Given the description of an element on the screen output the (x, y) to click on. 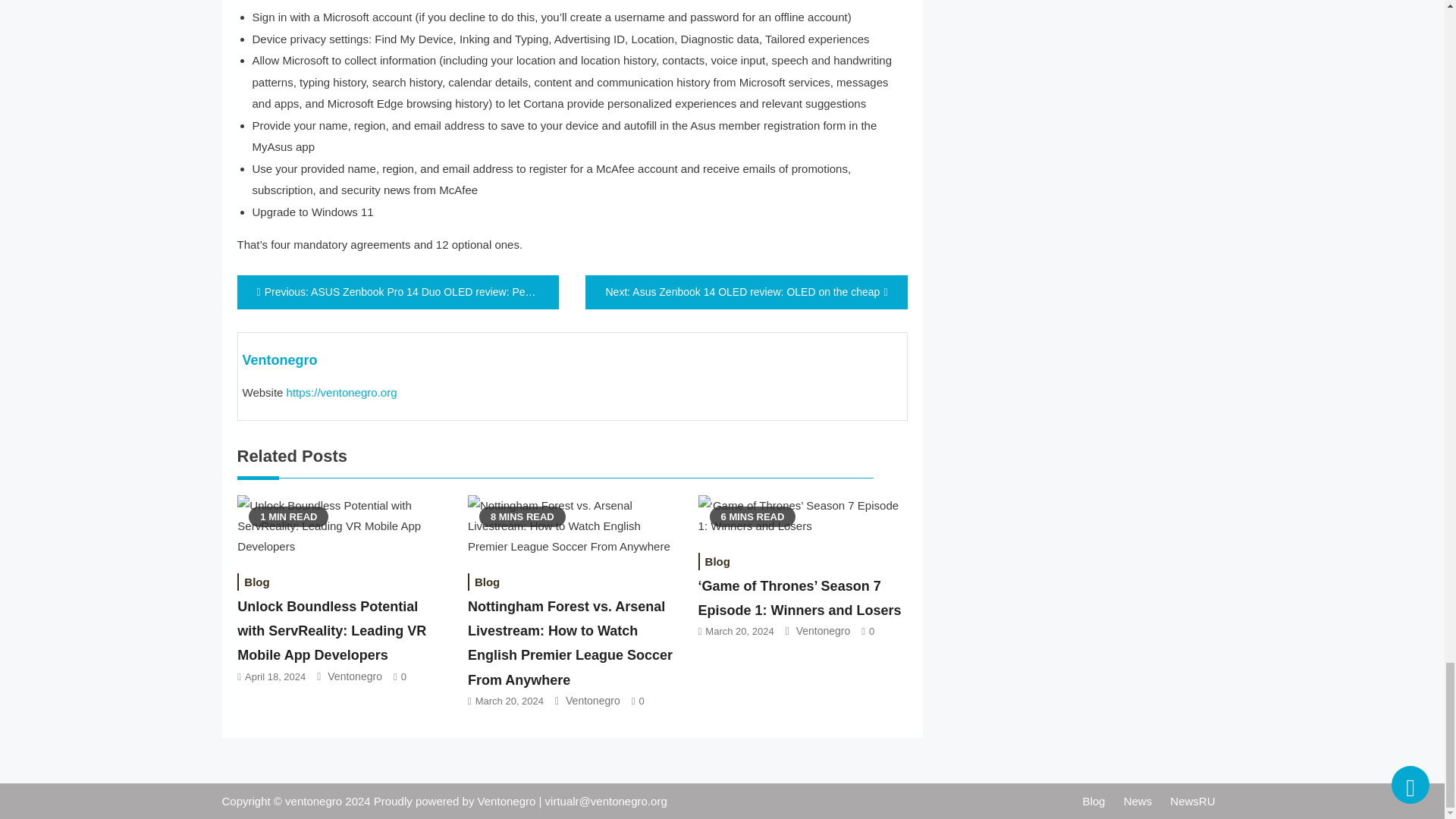
Posts by Ventonegro (280, 359)
March 20, 2024 (738, 631)
April 18, 2024 (274, 676)
March 20, 2024 (509, 700)
Next: Asus Zenbook 14 OLED review: OLED on the cheap (746, 292)
Ventonegro (354, 676)
Blog (717, 561)
Ventonegro (280, 359)
Ventonegro (593, 700)
Blog (486, 581)
Ventonegro (823, 630)
Blog (256, 581)
